Given the description of an element on the screen output the (x, y) to click on. 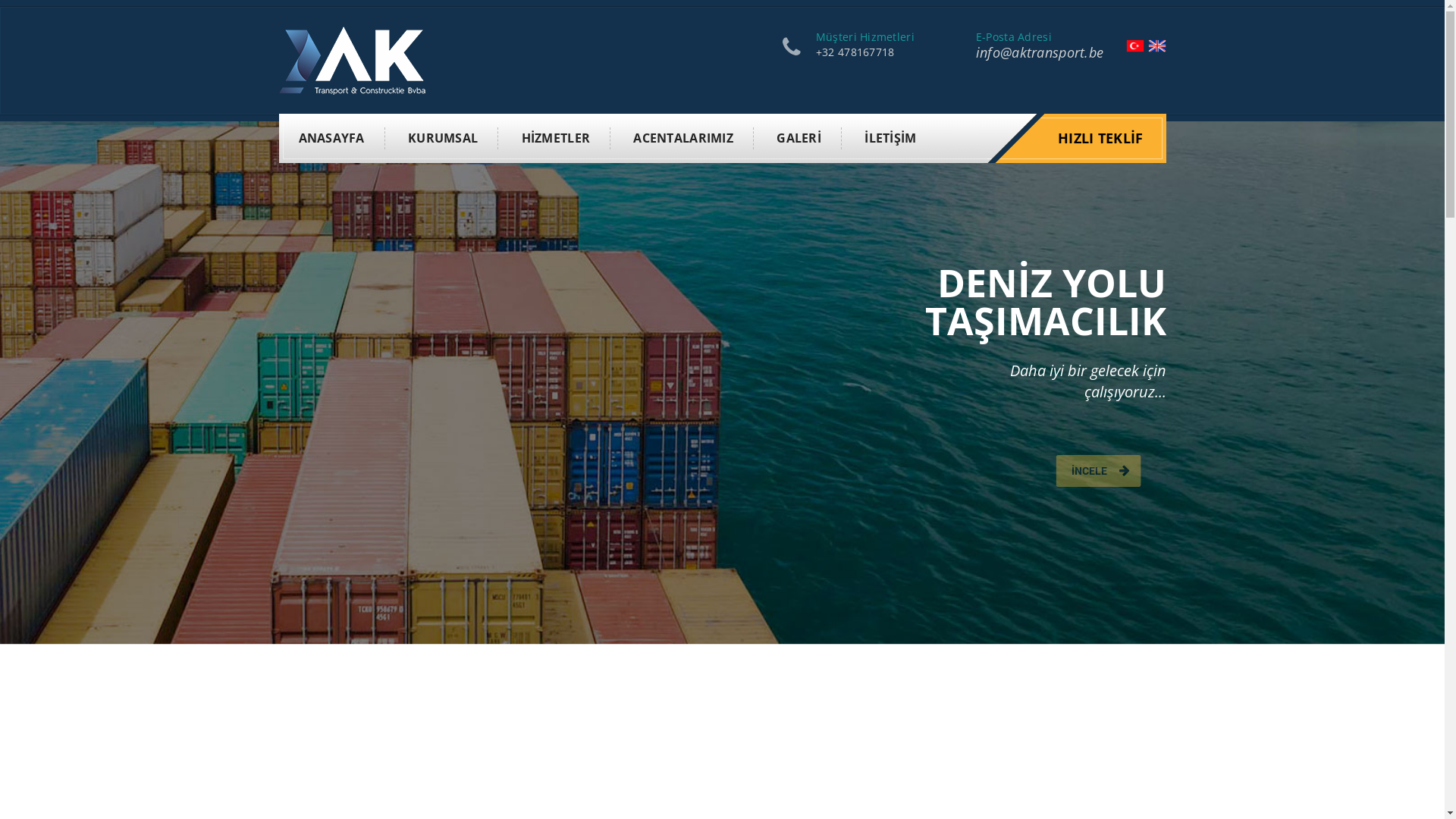
ANASAYFA Element type: text (332, 138)
HIZLI TEKLIF Element type: text (1100, 138)
ACENTALARIMIZ Element type: text (683, 138)
Aktransport Lojistik Element type: hover (352, 59)
KURUMSAL Element type: text (443, 138)
